Given the description of an element on the screen output the (x, y) to click on. 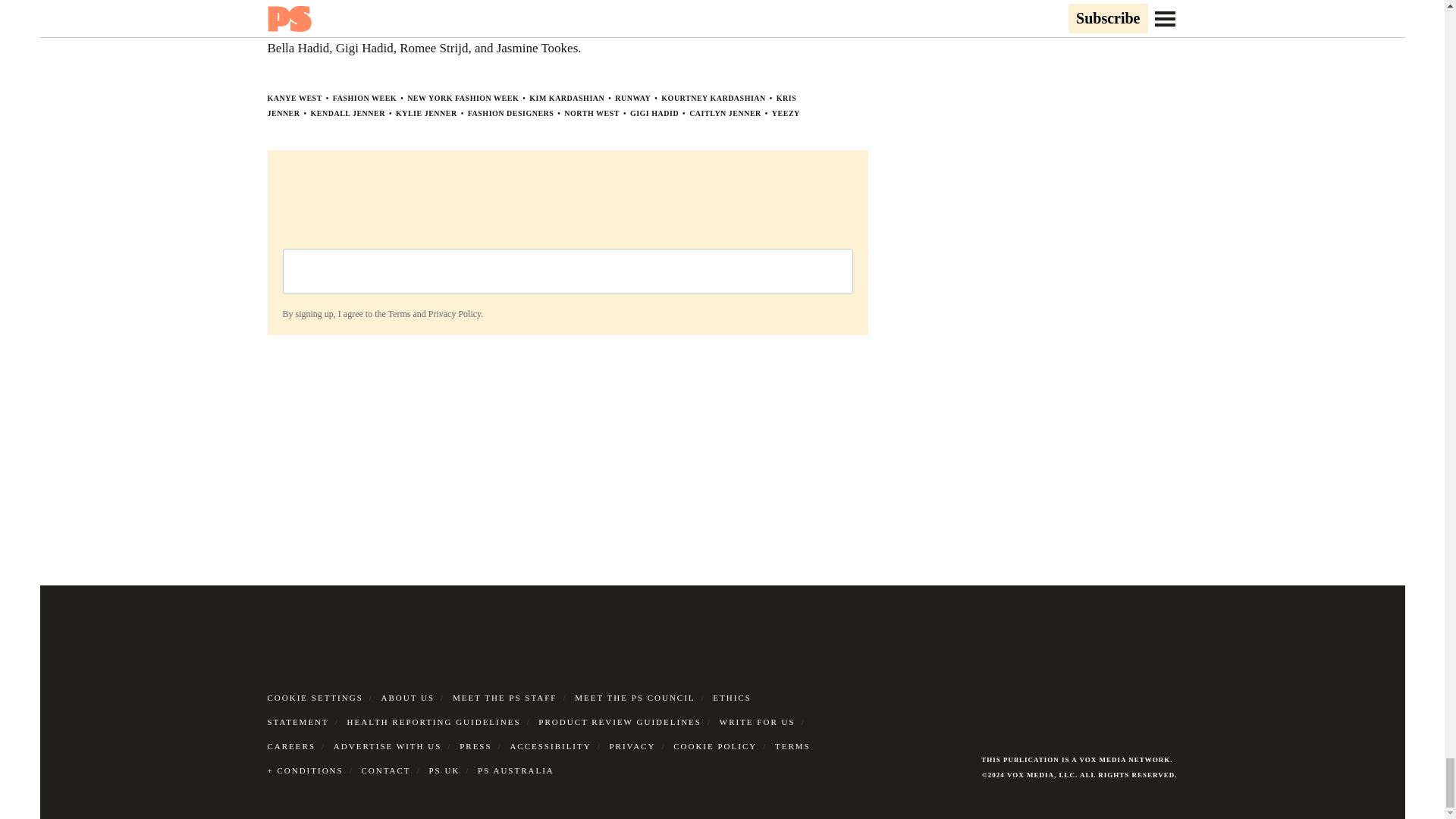
KANYE WEST (293, 98)
KIM KARDASHIAN (566, 98)
FASHION WEEK (364, 98)
NEW YORK FASHION WEEK (462, 98)
RUNWAY (632, 98)
